Given the description of an element on the screen output the (x, y) to click on. 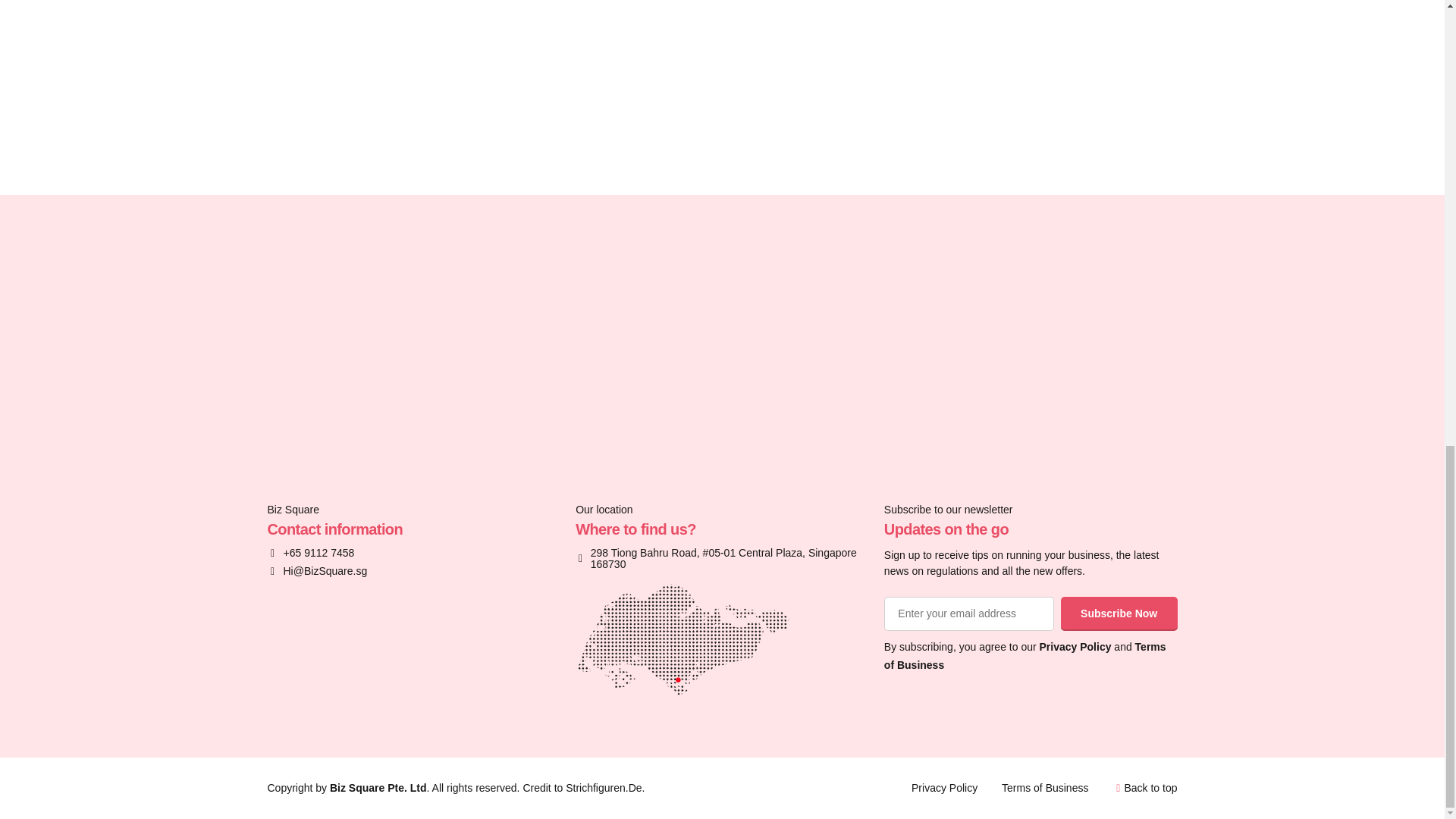
Privacy Policy (1075, 646)
Subscribe Now (1119, 614)
Subscribe Now (1119, 614)
Privacy Policy (943, 787)
Terms of Business (1024, 655)
Credit to Strichfiguren.De. (583, 787)
